Given the description of an element on the screen output the (x, y) to click on. 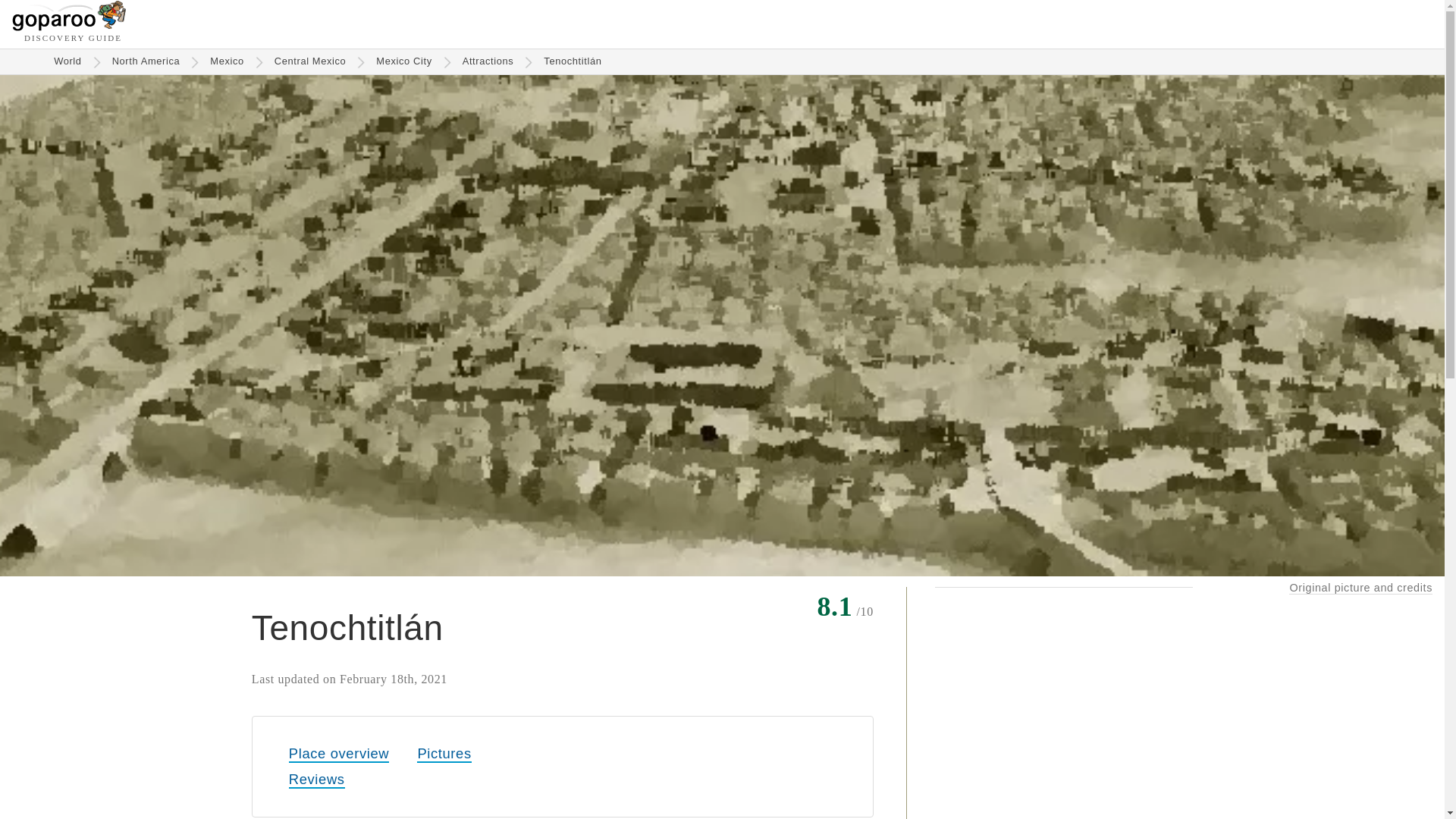
Mexico (226, 61)
Reviews (316, 779)
Pictures (443, 753)
Place overview (338, 753)
North America (145, 61)
Mexico City (403, 61)
Advertisement (1063, 705)
Central Mexico (309, 61)
Attractions (487, 61)
Original picture and credits (1360, 587)
